Given the description of an element on the screen output the (x, y) to click on. 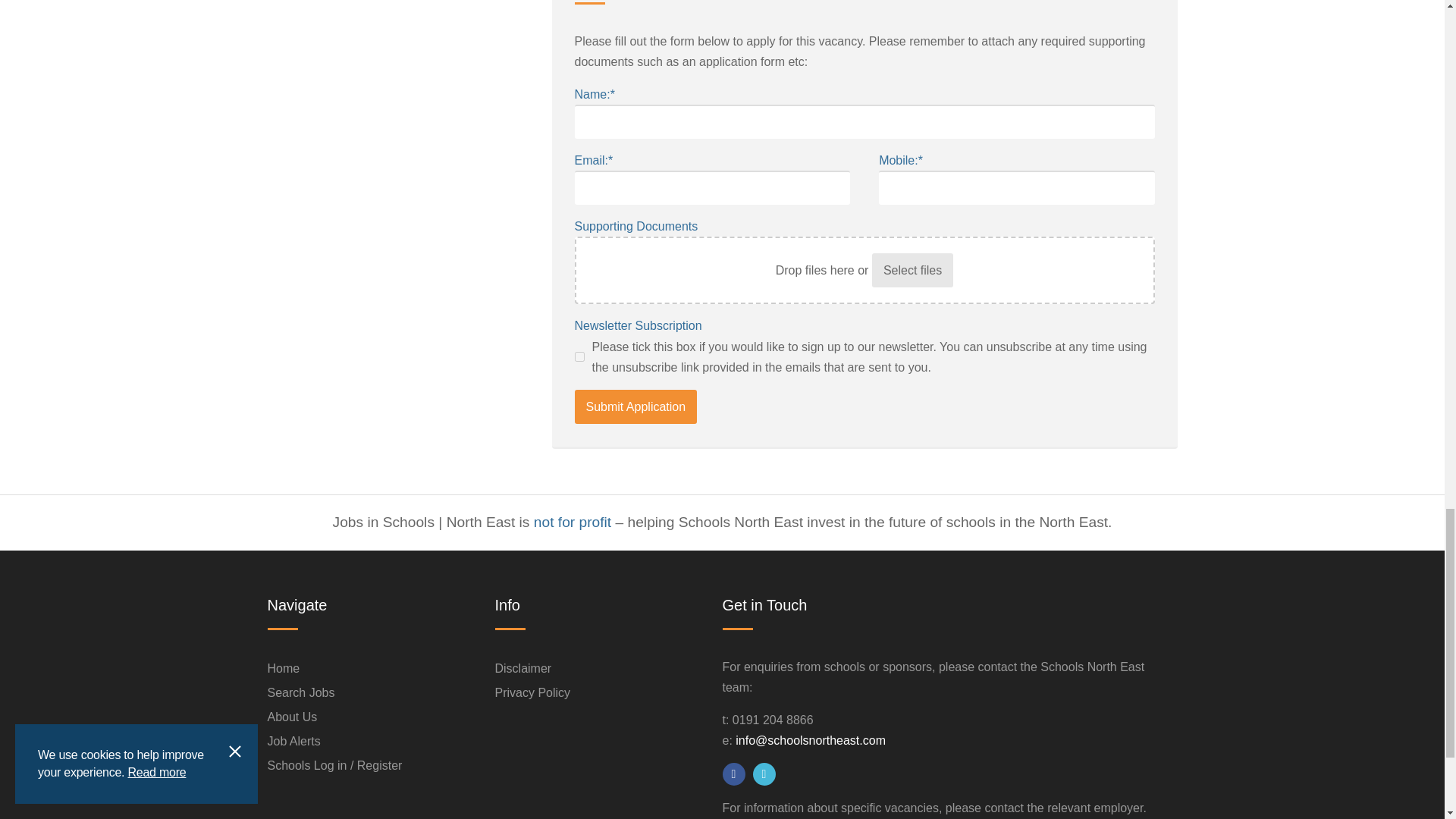
Select files (912, 270)
Submit Application (636, 406)
